Given the description of an element on the screen output the (x, y) to click on. 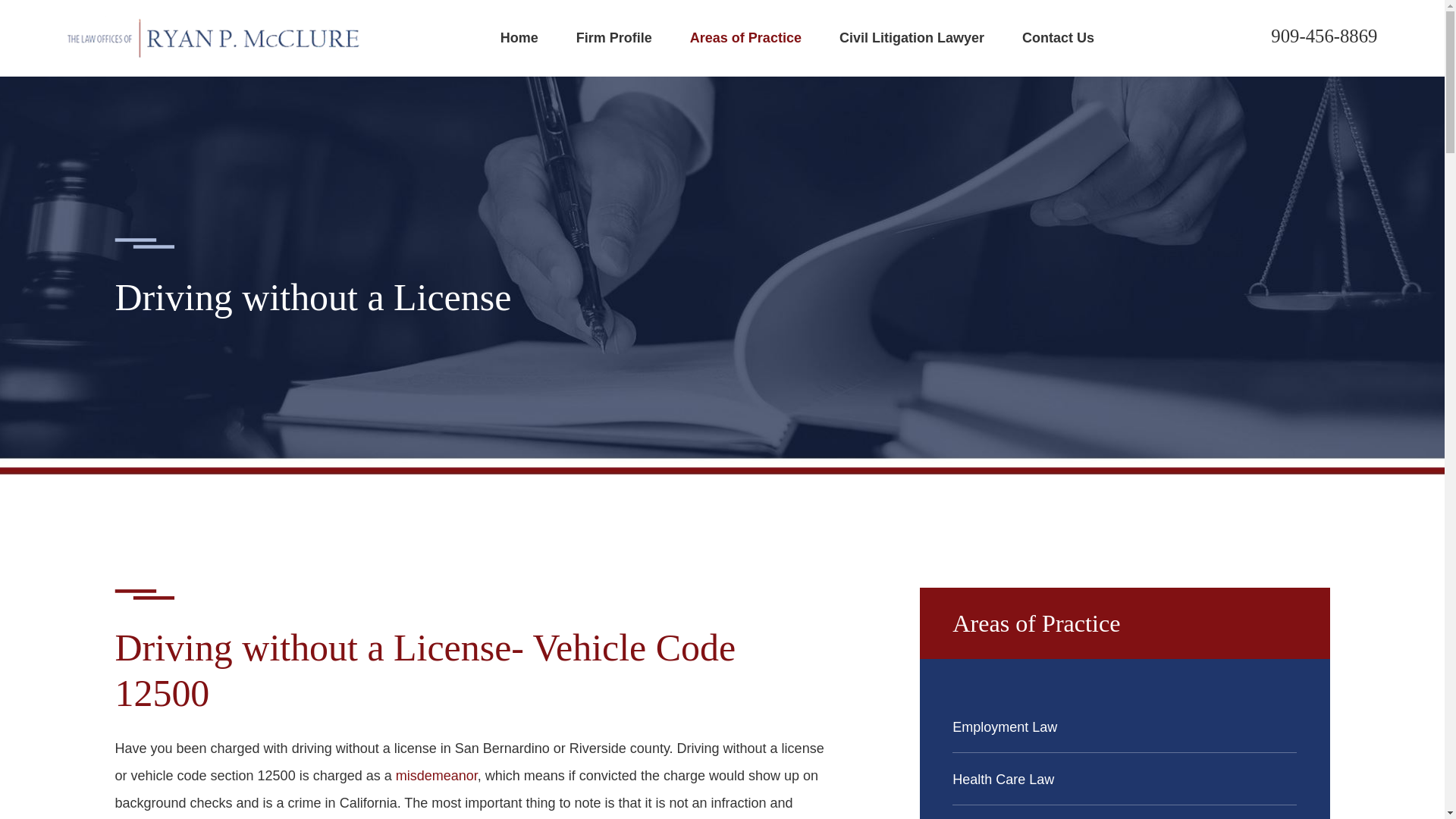
Firm Profile (614, 38)
Home (213, 37)
Areas of Practice (746, 38)
